Given the description of an element on the screen output the (x, y) to click on. 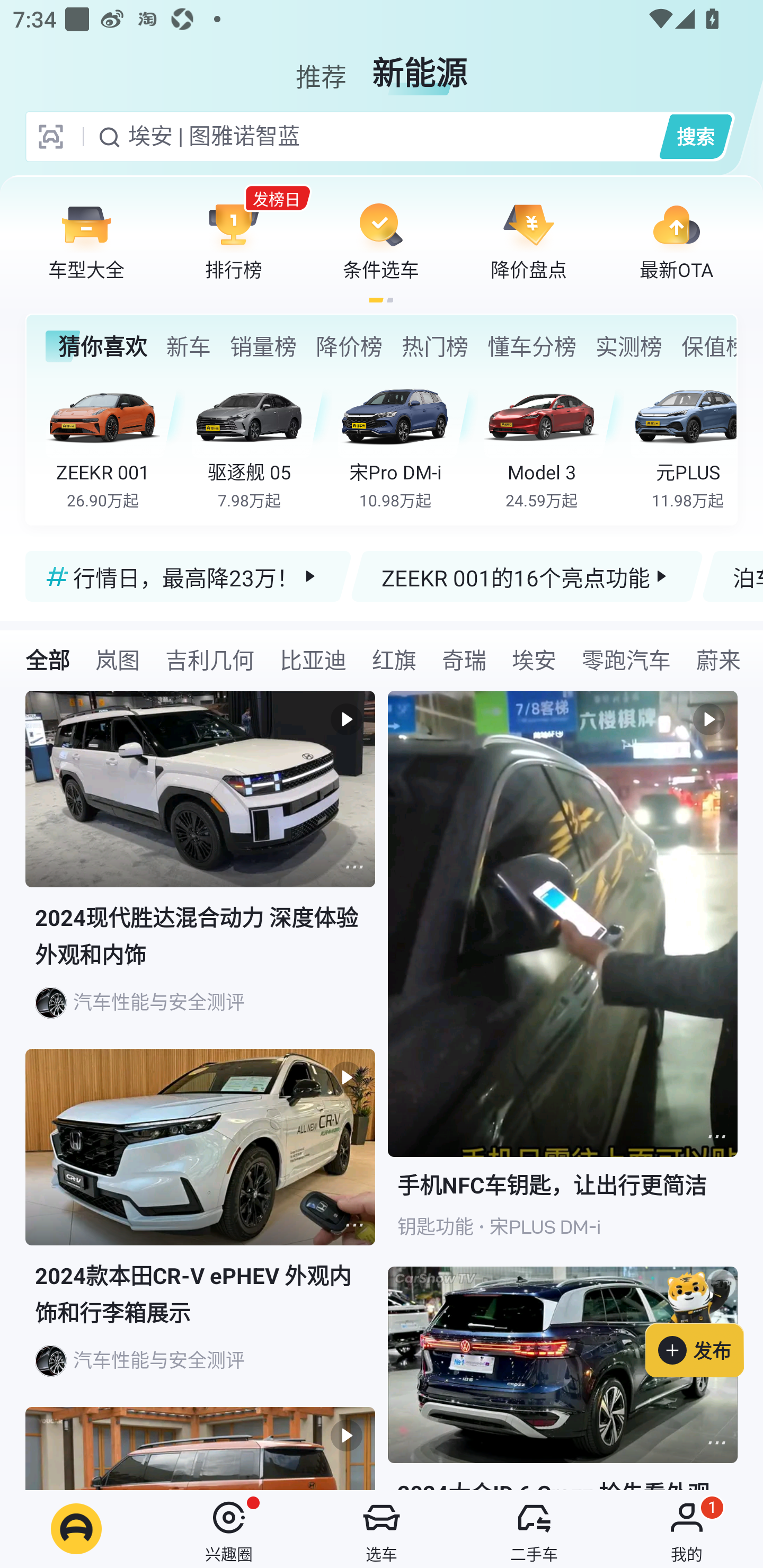
推荐 (321, 65)
新能源 (419, 65)
搜索 (695, 136)
车型大全 (86, 240)
发榜日 排行榜 (233, 240)
条件选车 (380, 240)
降价盘点 (528, 240)
最新OTA (676, 240)
猜你喜欢 (96, 346)
新车 (188, 346)
销量榜 (262, 346)
降价榜 (348, 346)
热门榜 (434, 346)
懂车分榜 (531, 346)
实测榜 (628, 346)
保值榜 (708, 346)
ZEEKR 001 26.90万起 (115, 442)
驱逐舰 05 7.98万起 (261, 442)
宋Pro DM-i 10.98万起 (407, 442)
Model 3 24.59万起 (554, 442)
元PLUS 11.98万起 (683, 442)
行情日，最高降23万！ (188, 576)
ZEEKR 001的16个亮点功能 (526, 576)
全部 (47, 659)
岚图 (117, 659)
吉利几何 (209, 659)
比亚迪 (313, 659)
红旗 (393, 659)
奇瑞 (463, 659)
埃安 (534, 659)
零跑汽车 (626, 659)
蔚来 (718, 659)
  2024现代胜达混合动力 深度体验外观和内饰 汽车性能与安全测评 (200, 869)
  手机NFC车钥匙，让出行更简洁 钥匙功能 宋PLUS DM-i (562, 978)
 (354, 867)
  2024款本田CR-V ePHEV 外观内饰和行李箱展示 汽车性能与安全测评 (200, 1227)
 (716, 1136)
宋PLUS DM-i (545, 1226)
 (354, 1224)
发布 (704, 1320)
  2024大众ID.6 Crozz 抢先看外观和内饰 (562, 1377)
 (716, 1442)
 兴趣圈 (228, 1528)
 选车 (381, 1528)
 二手车 (533, 1528)
 我的 (686, 1528)
